Given the description of an element on the screen output the (x, y) to click on. 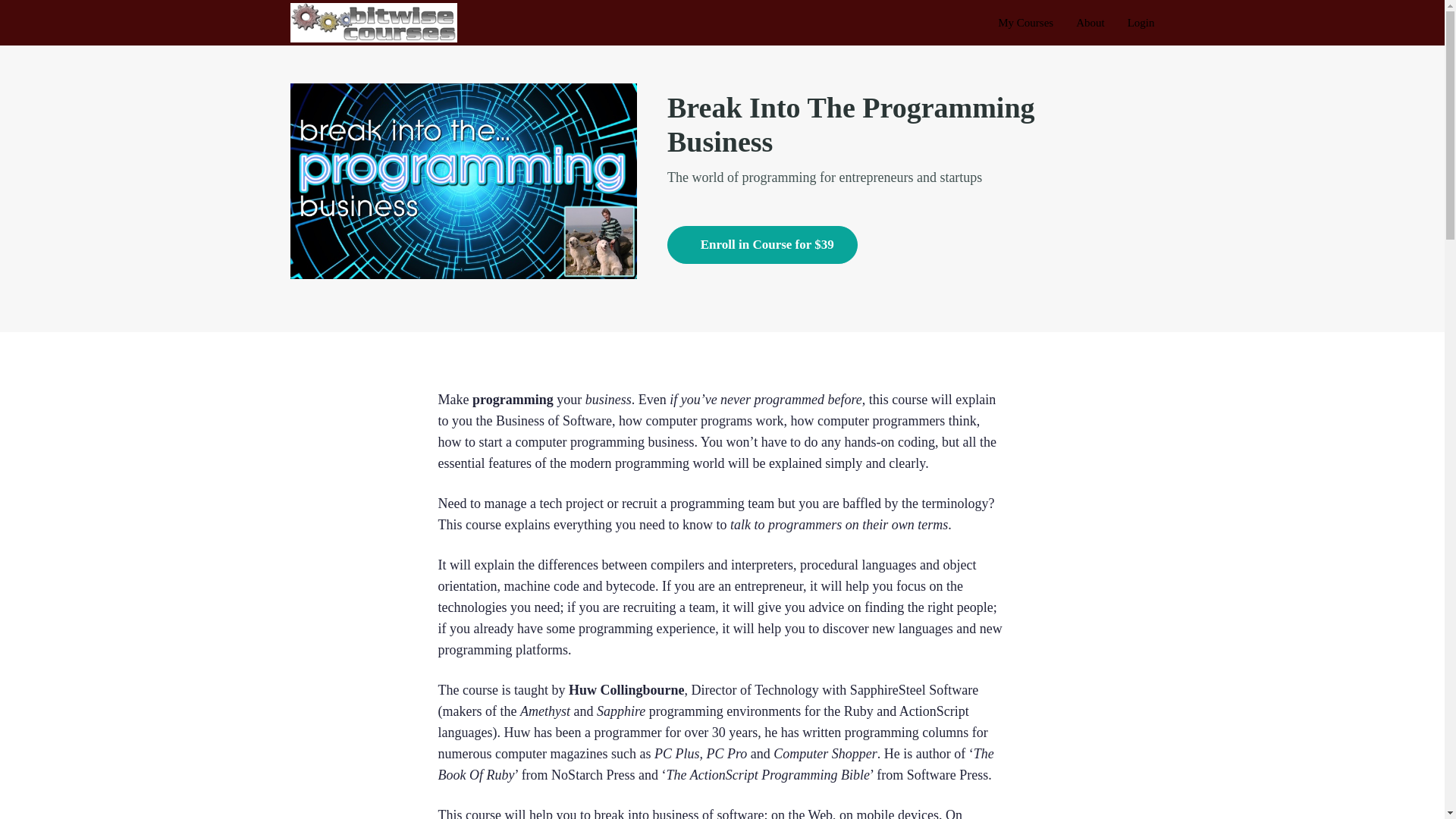
My Courses (1025, 22)
About (1090, 22)
Login (1141, 22)
